Given the description of an element on the screen output the (x, y) to click on. 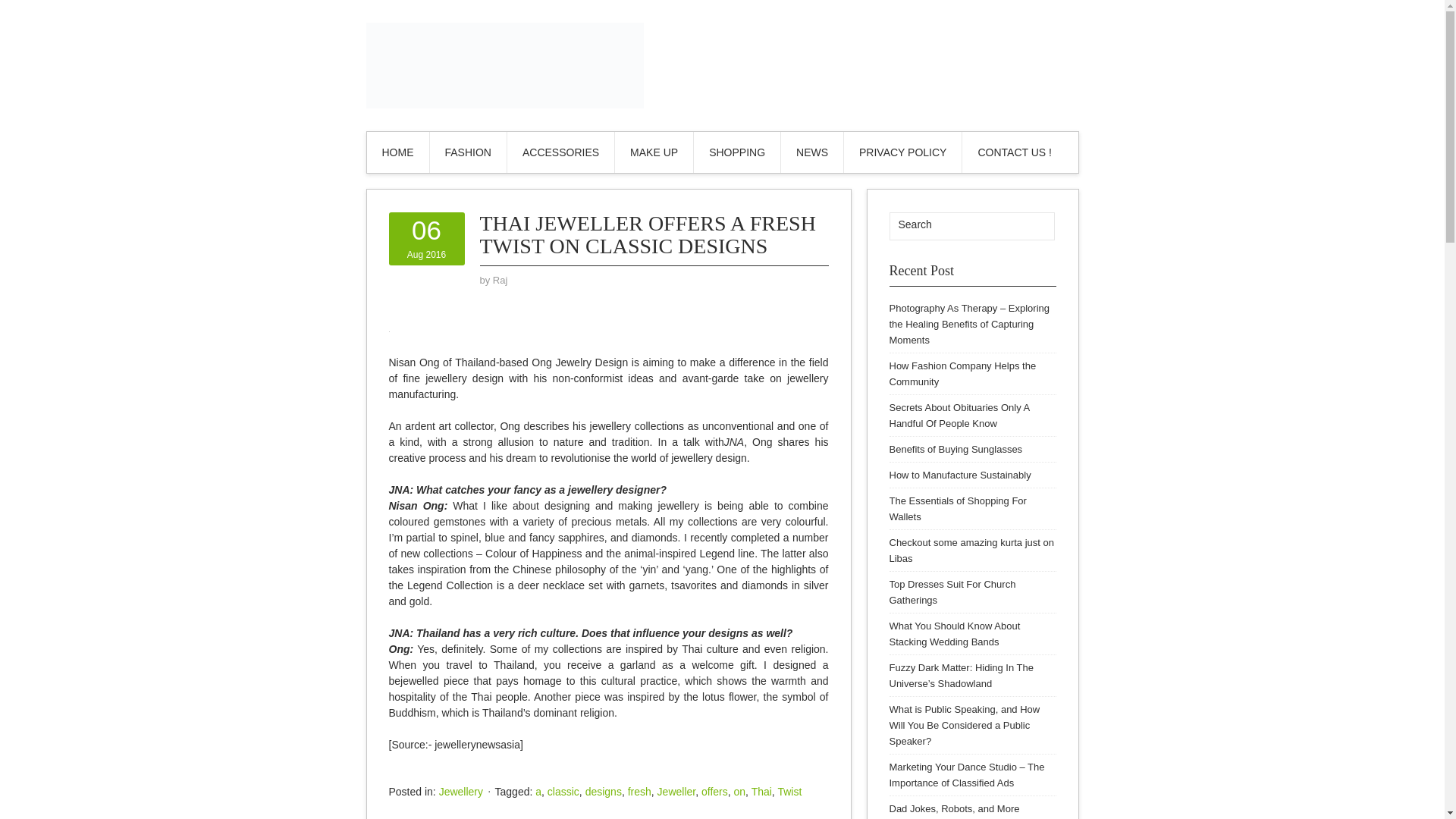
Benefits of Buying Sunglasses (955, 449)
Top Dresses Suit For Church Gatherings (426, 238)
The Essentials of Shopping For Wallets (951, 592)
FASHION (957, 508)
designs (467, 151)
SHOPPING (603, 791)
Search (737, 151)
What You Should Know About Stacking Wedding Bands (1032, 226)
August 6, 2016 6:21 am (954, 633)
Checkout some amazing kurta just on Libas (426, 238)
Jewellery (971, 550)
Thai (461, 791)
PRIVACY POLICY (761, 791)
